Given the description of an element on the screen output the (x, y) to click on. 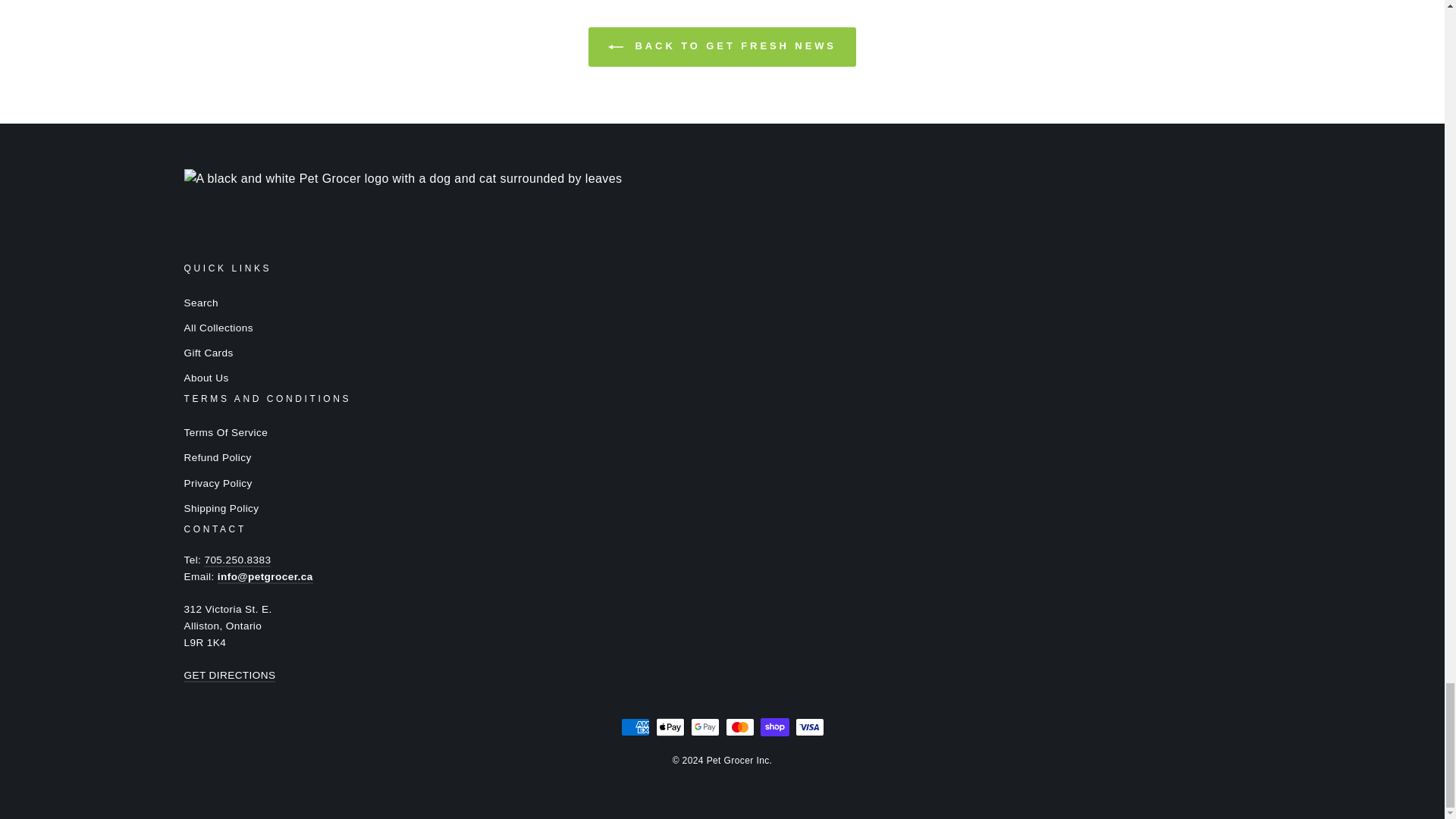
Google Pay (704, 727)
Visa (809, 727)
Apple Pay (669, 727)
Mastercard (739, 727)
Shop Pay (774, 727)
American Express (634, 727)
